Given the description of an element on the screen output the (x, y) to click on. 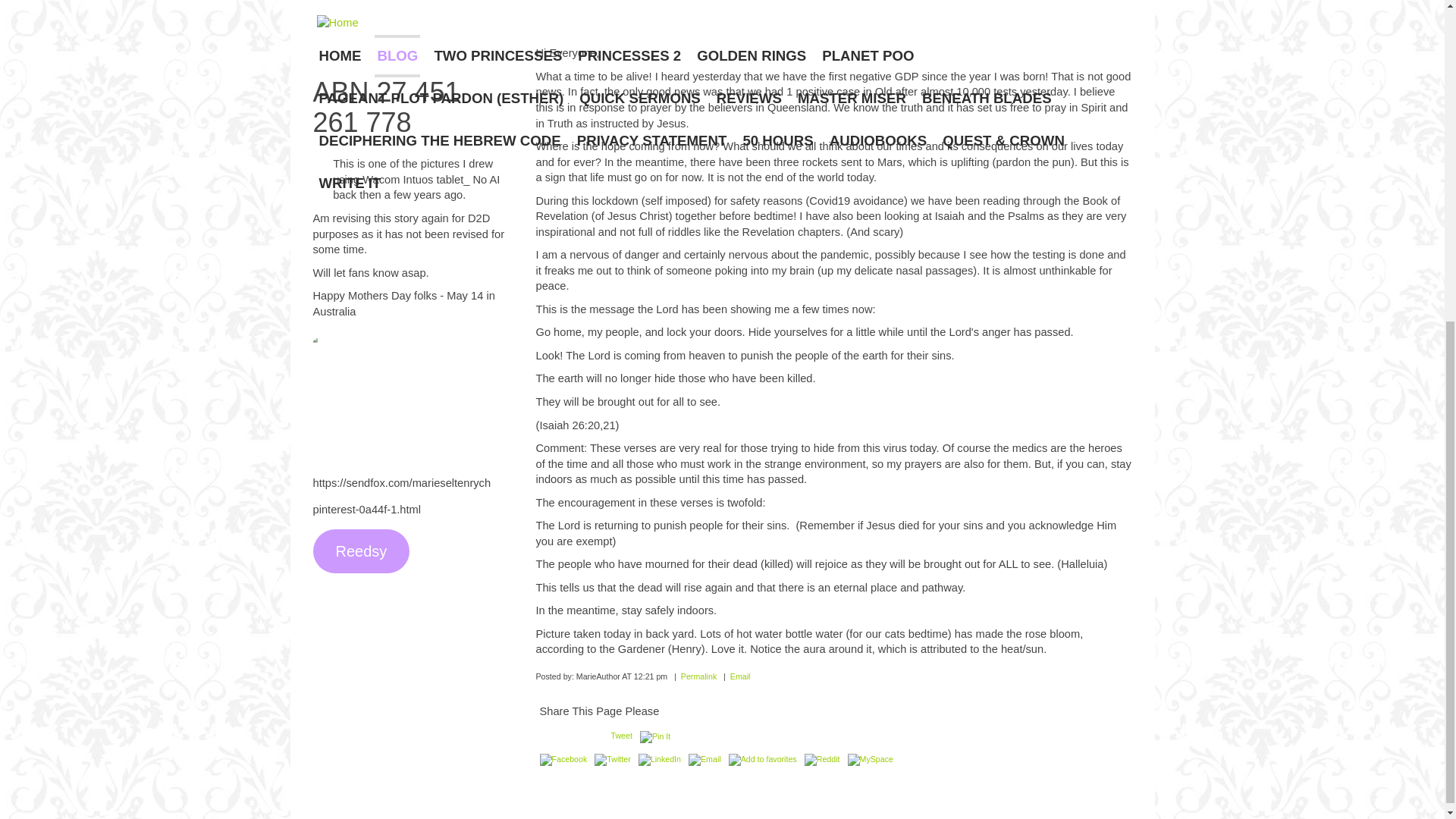
Email (740, 675)
Twitter (612, 759)
LinkedIn (660, 759)
Pin It (654, 736)
MySpace (870, 759)
Tweet (620, 735)
Email (704, 759)
Reddit (822, 759)
Permalink (698, 675)
Reedsy (361, 551)
